Given the description of an element on the screen output the (x, y) to click on. 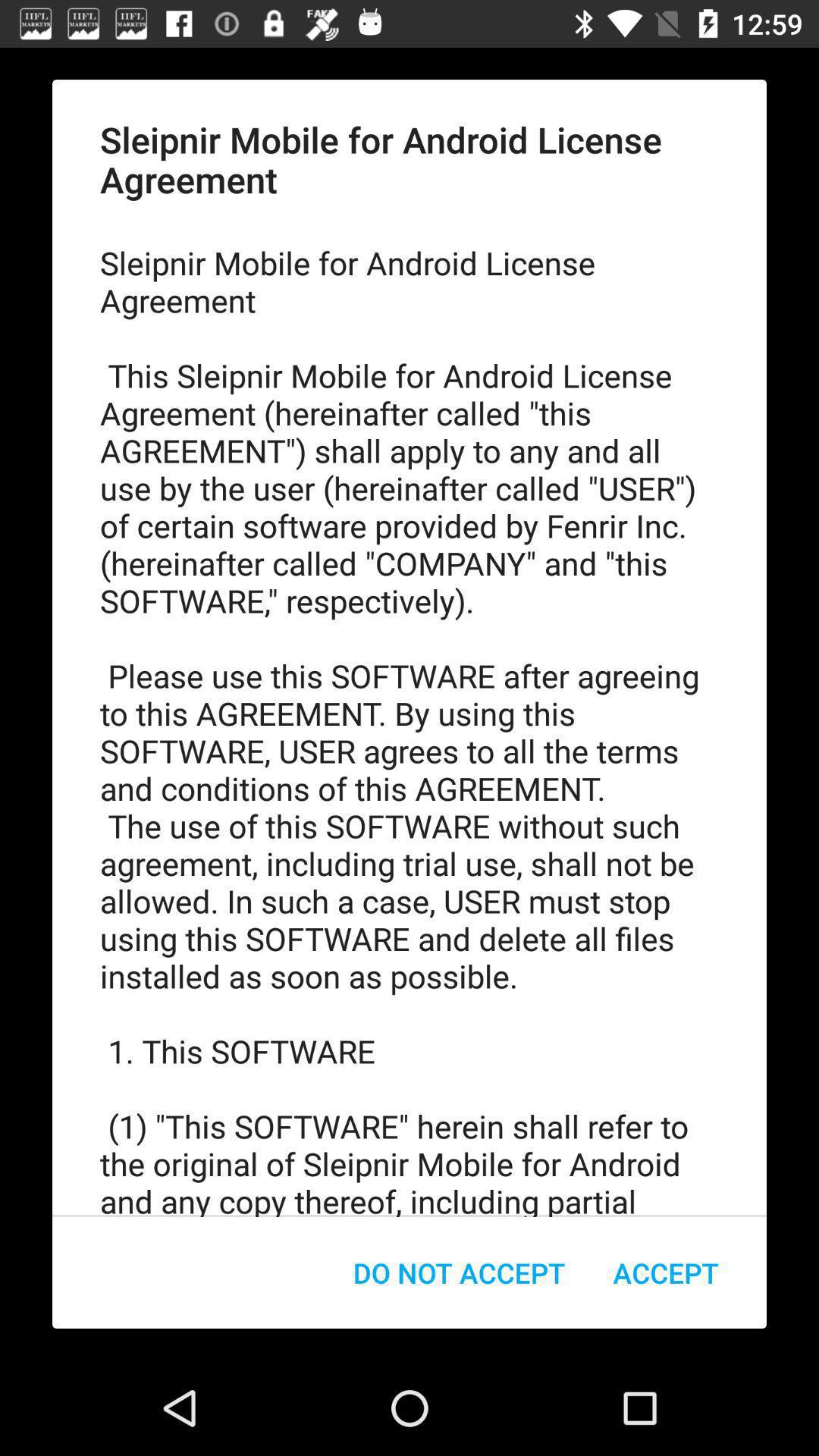
tap the icon next to the accept icon (459, 1272)
